Given the description of an element on the screen output the (x, y) to click on. 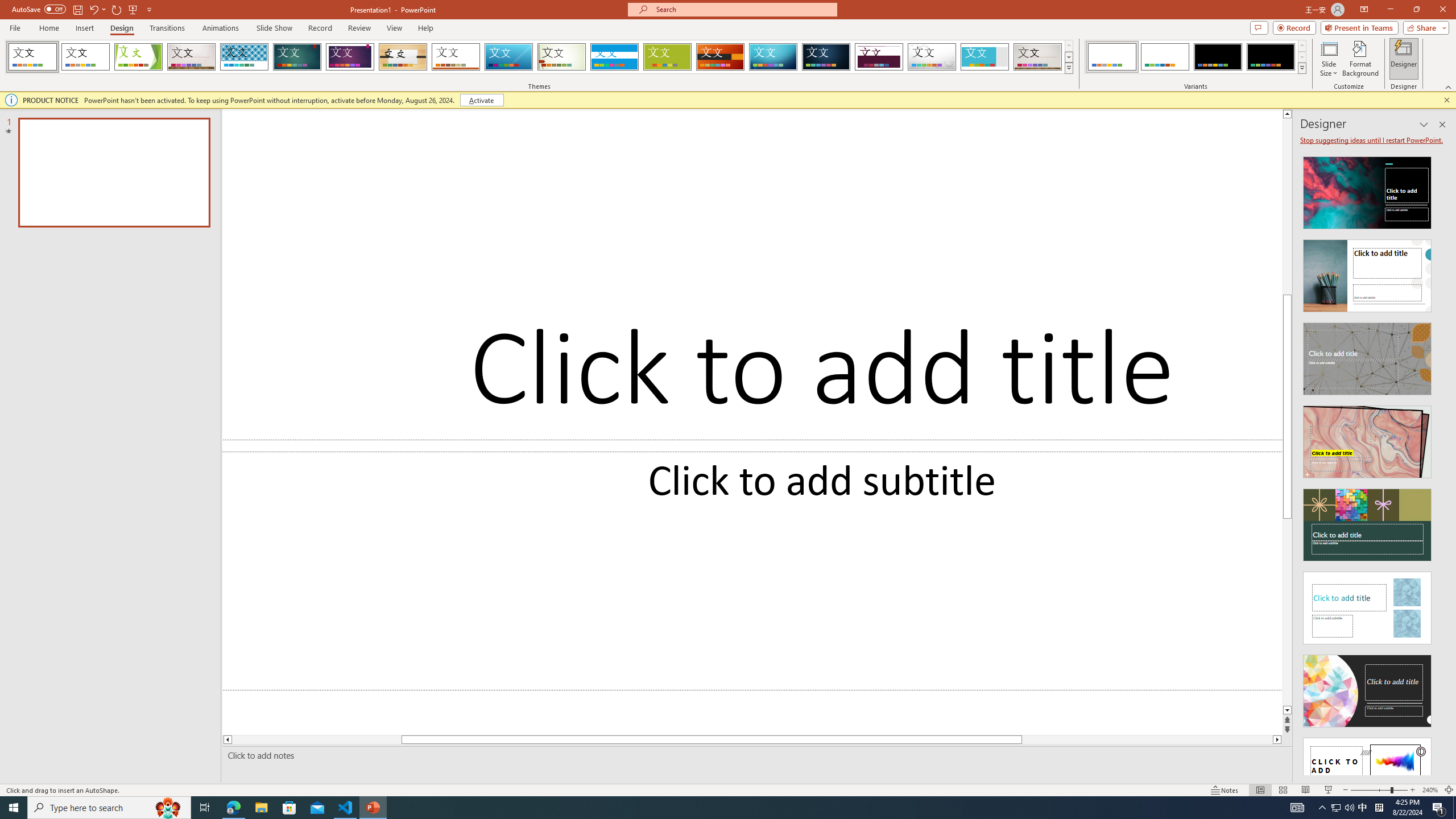
AutomationID: SlideThemesGallery (539, 56)
Slice (508, 56)
Frame (984, 56)
Organic (403, 56)
Droplet (931, 56)
Office Theme Variant 4 (1270, 56)
